Given the description of an element on the screen output the (x, y) to click on. 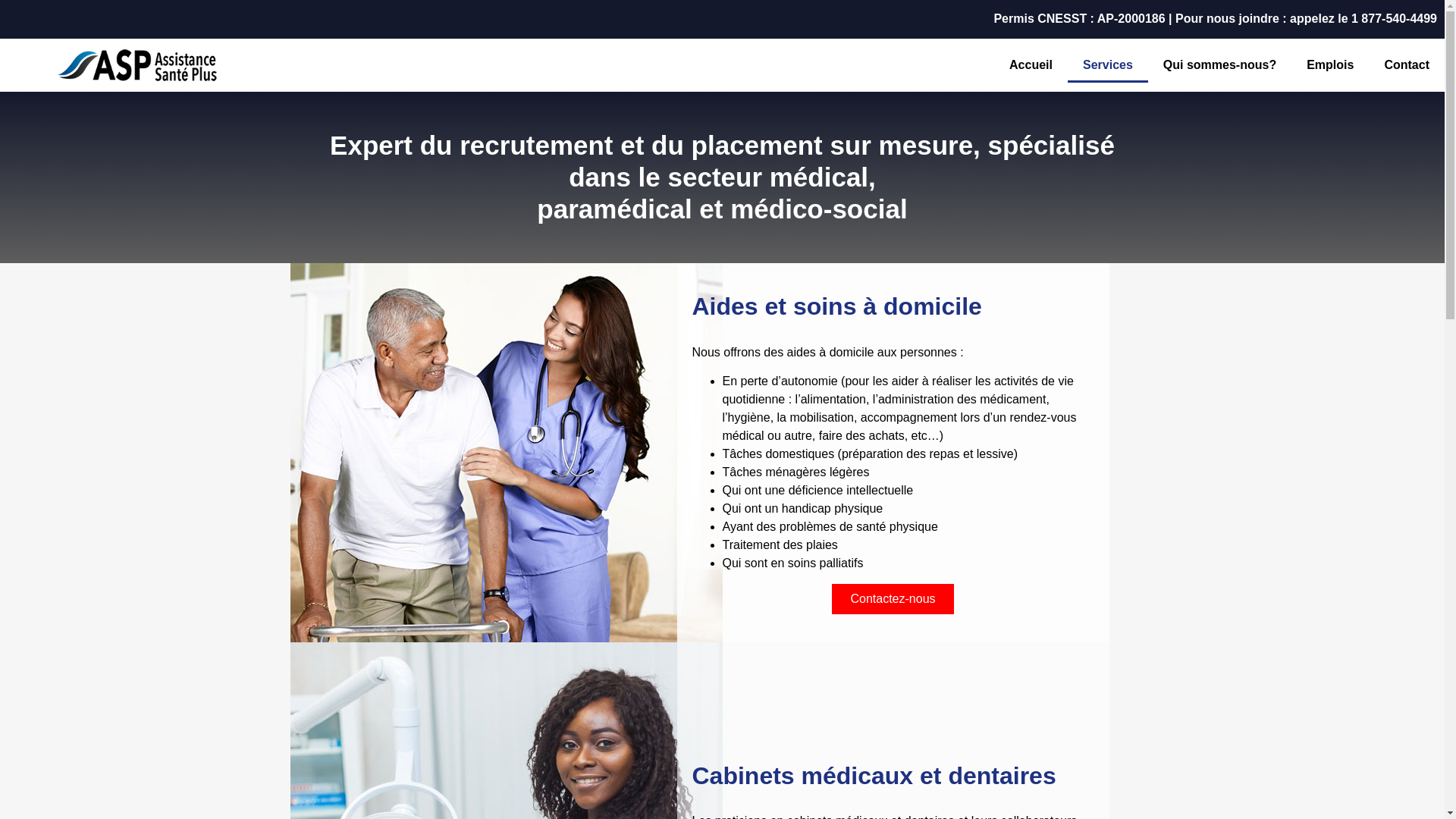
Contact Element type: text (1406, 64)
Services Element type: text (1107, 64)
Contactez-nous Element type: text (892, 598)
1 877-540-4499 Element type: text (1394, 18)
Accueil Element type: text (1030, 64)
Qui sommes-nous? Element type: text (1219, 64)
Emplois Element type: text (1329, 64)
